Given the description of an element on the screen output the (x, y) to click on. 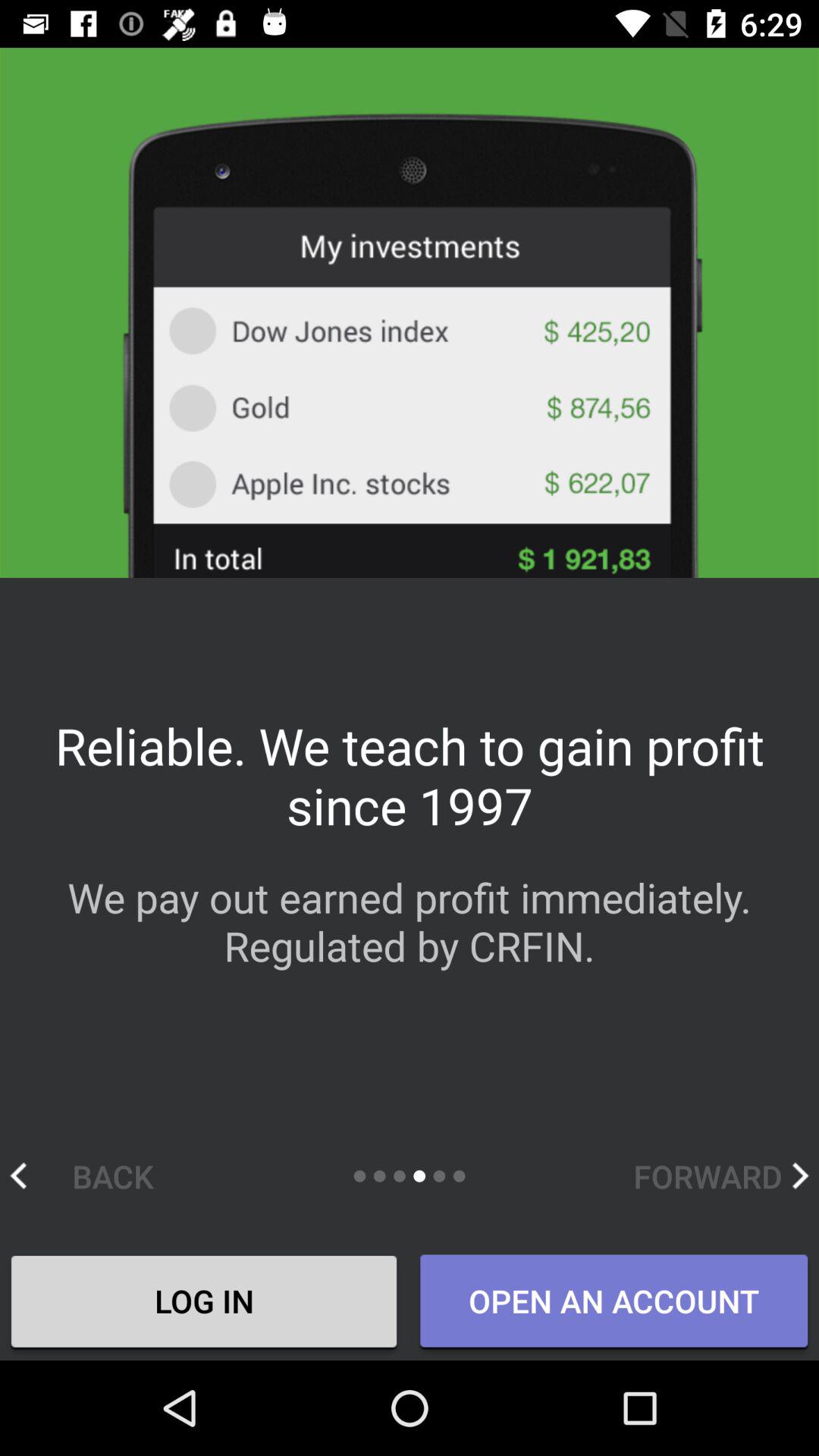
scroll to the open an account icon (613, 1302)
